Given the description of an element on the screen output the (x, y) to click on. 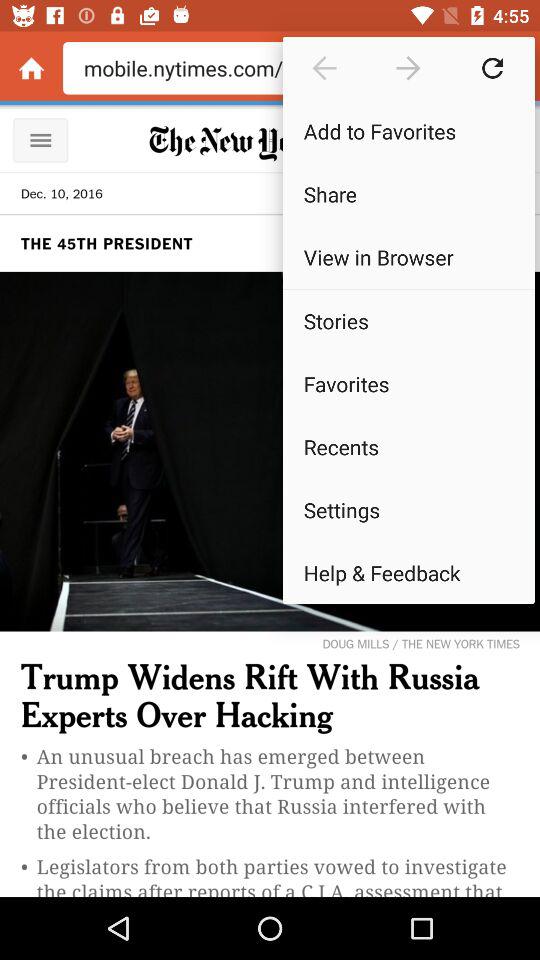
go to next (408, 67)
